Given the description of an element on the screen output the (x, y) to click on. 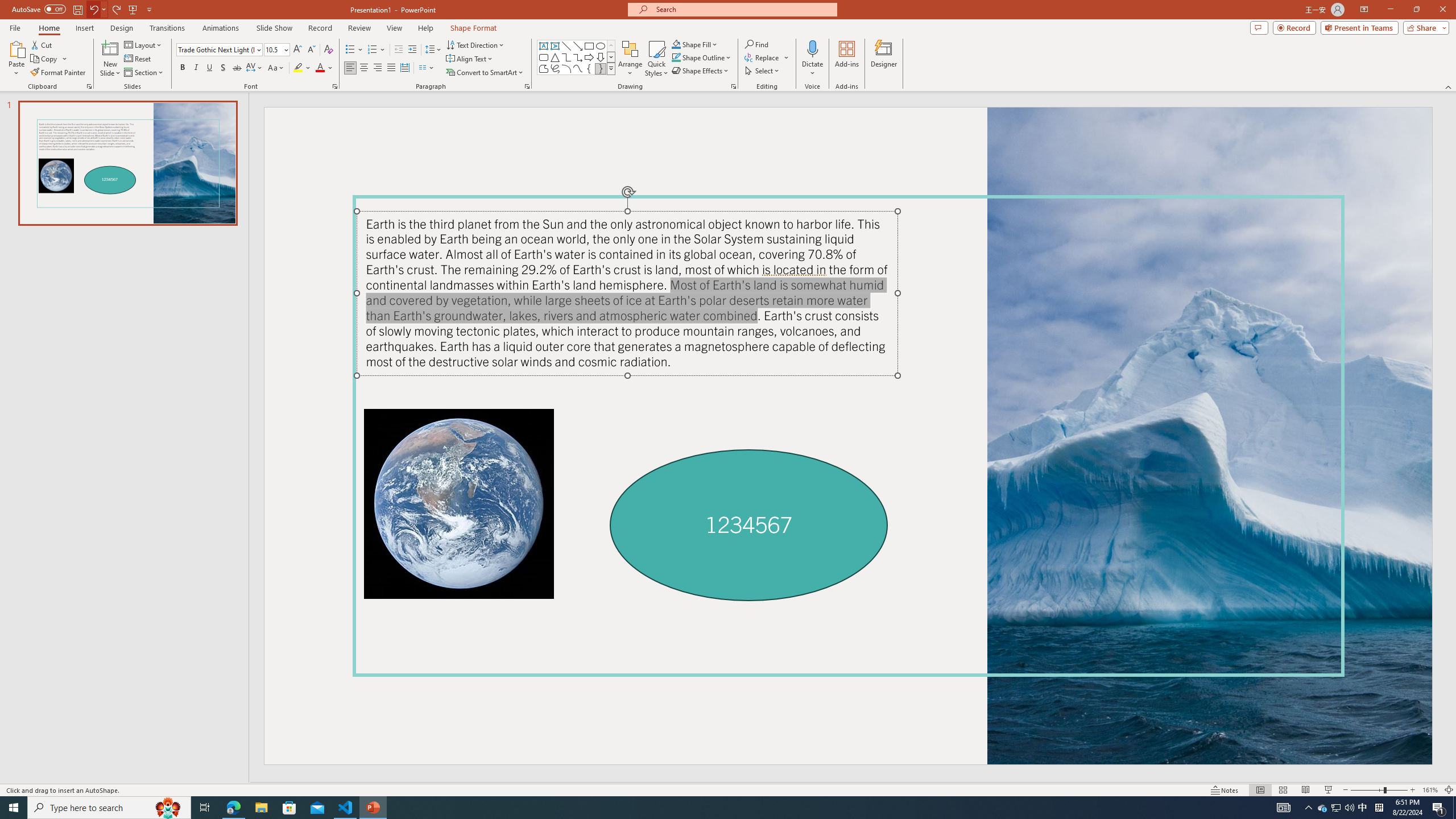
Arrow: Down (600, 57)
Curve (577, 68)
Designer (883, 58)
Format Painter (58, 72)
Increase Font Size (297, 49)
Justify (390, 67)
